Given the description of an element on the screen output the (x, y) to click on. 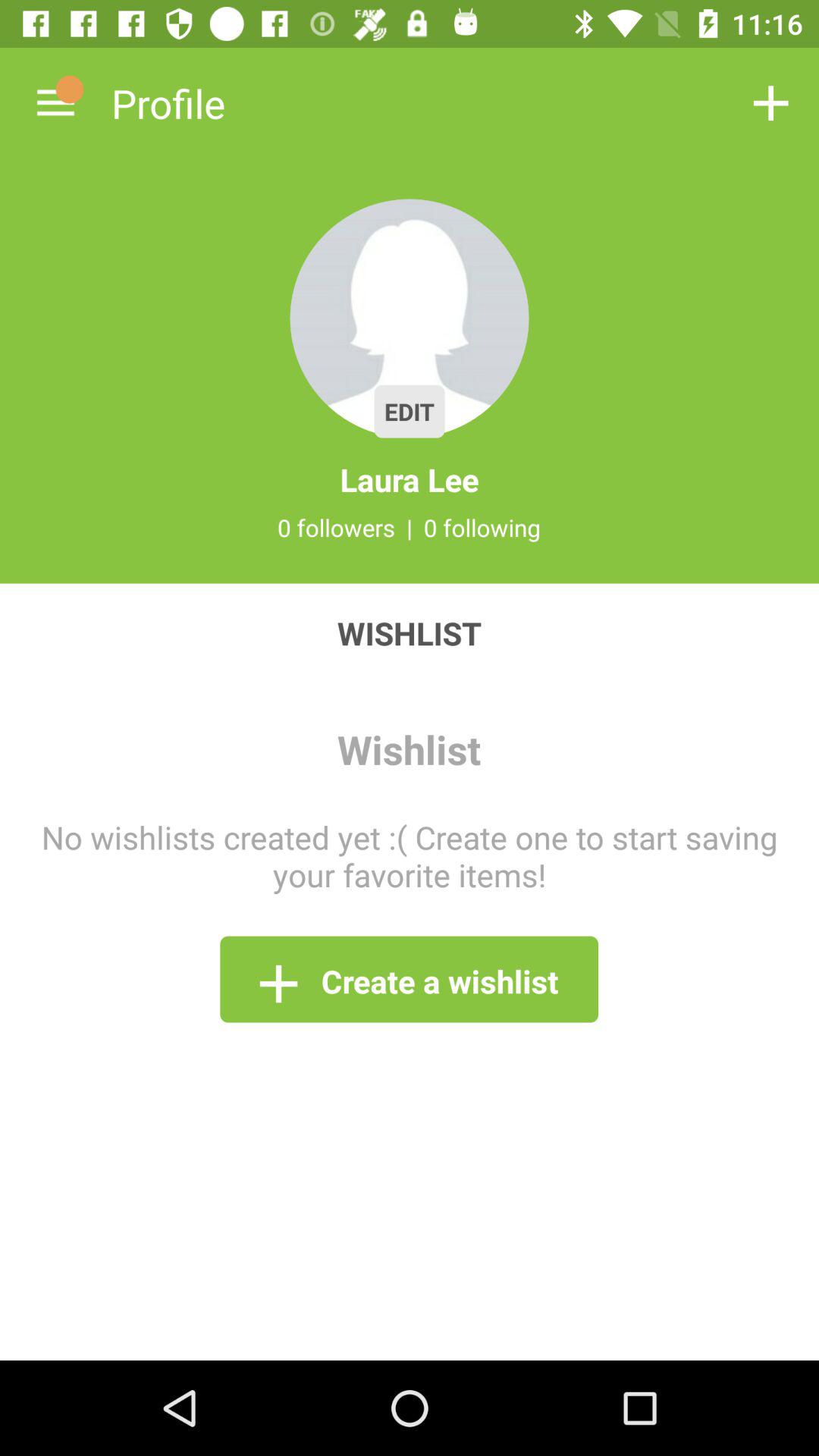
open the item to the left of the   |   icon (336, 527)
